Given the description of an element on the screen output the (x, y) to click on. 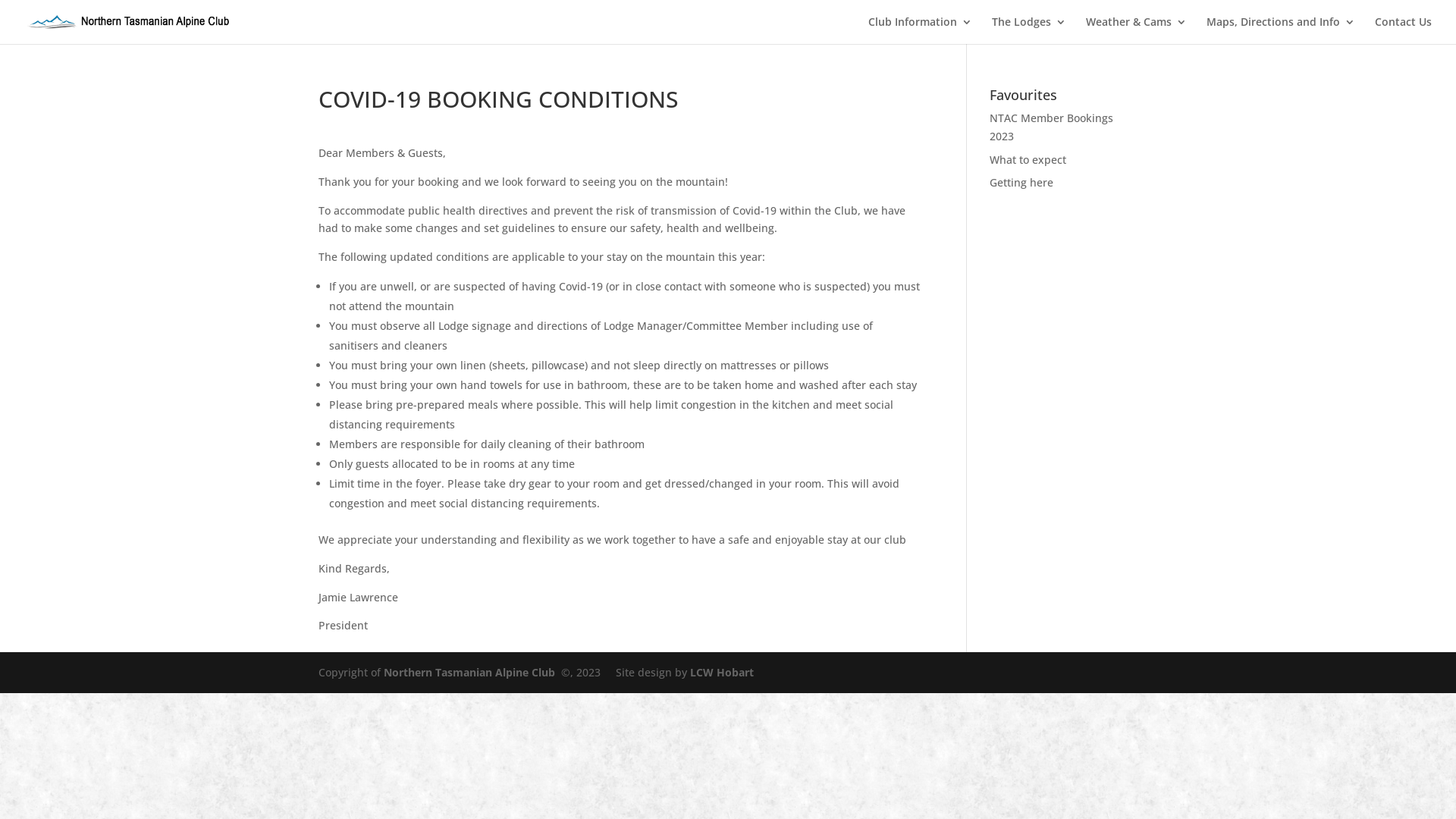
NTAC Member Bookings 2023 Element type: text (1051, 126)
LCW Hobart Element type: text (721, 672)
Weather & Cams Element type: text (1135, 29)
What to expect Element type: text (1027, 159)
Northern Tasmanian Alpine Club Element type: text (469, 672)
Club Information Element type: text (920, 29)
Maps, Directions and Info Element type: text (1280, 29)
Contact Us Element type: text (1402, 29)
Getting here Element type: text (1021, 182)
The Lodges Element type: text (1028, 29)
